Given the description of an element on the screen output the (x, y) to click on. 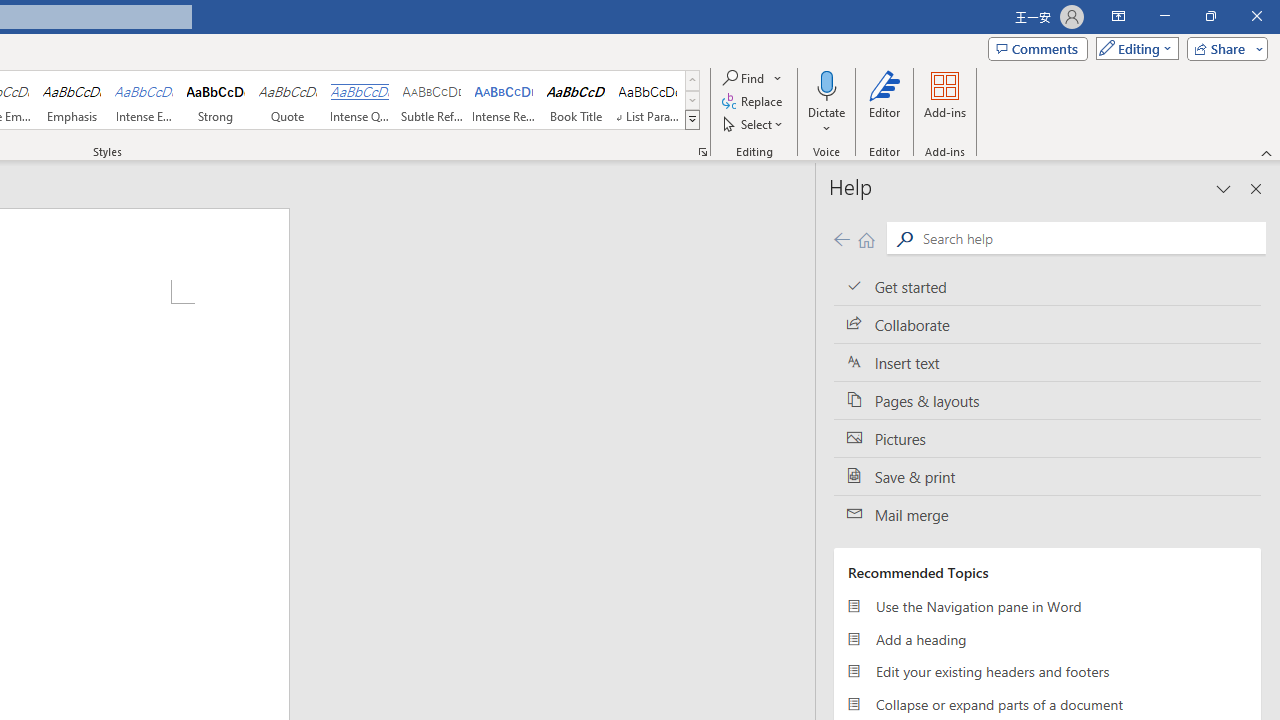
Row Down (692, 100)
Emphasis (71, 100)
Intense Reference (504, 100)
